Given the description of an element on the screen output the (x, y) to click on. 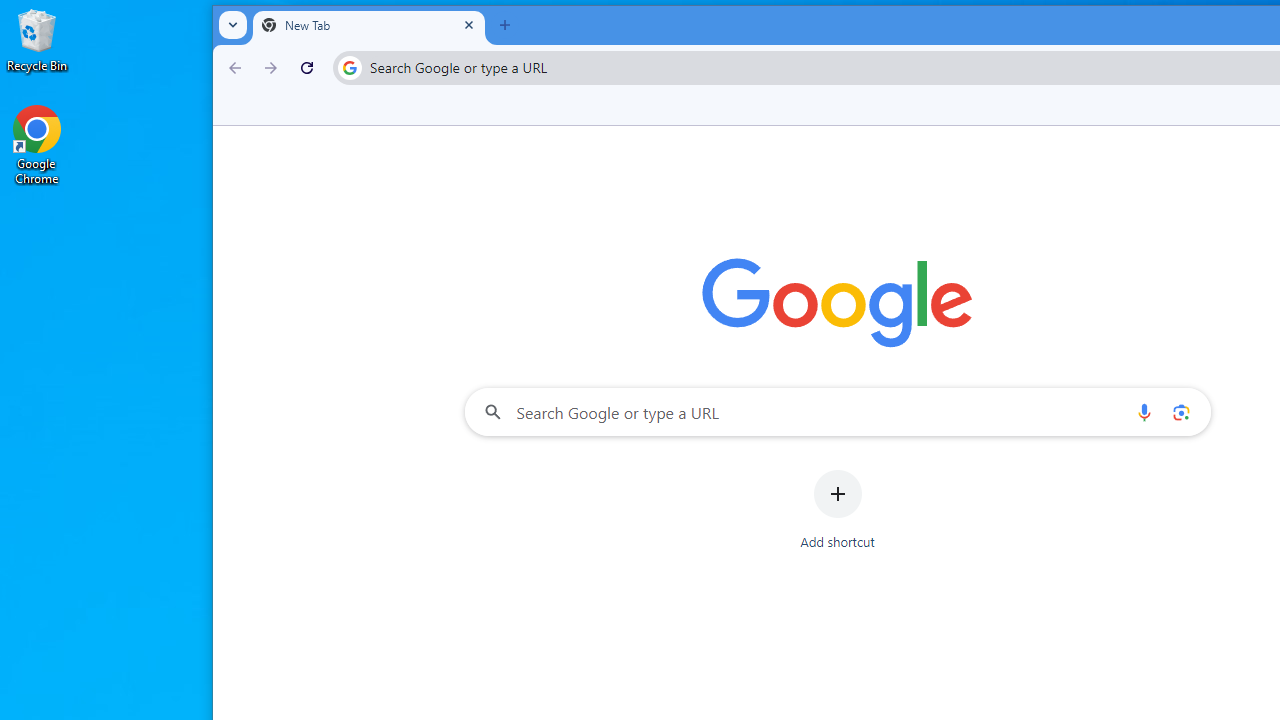
Recycle Bin (37, 39)
Google Chrome (37, 144)
